Given the description of an element on the screen output the (x, y) to click on. 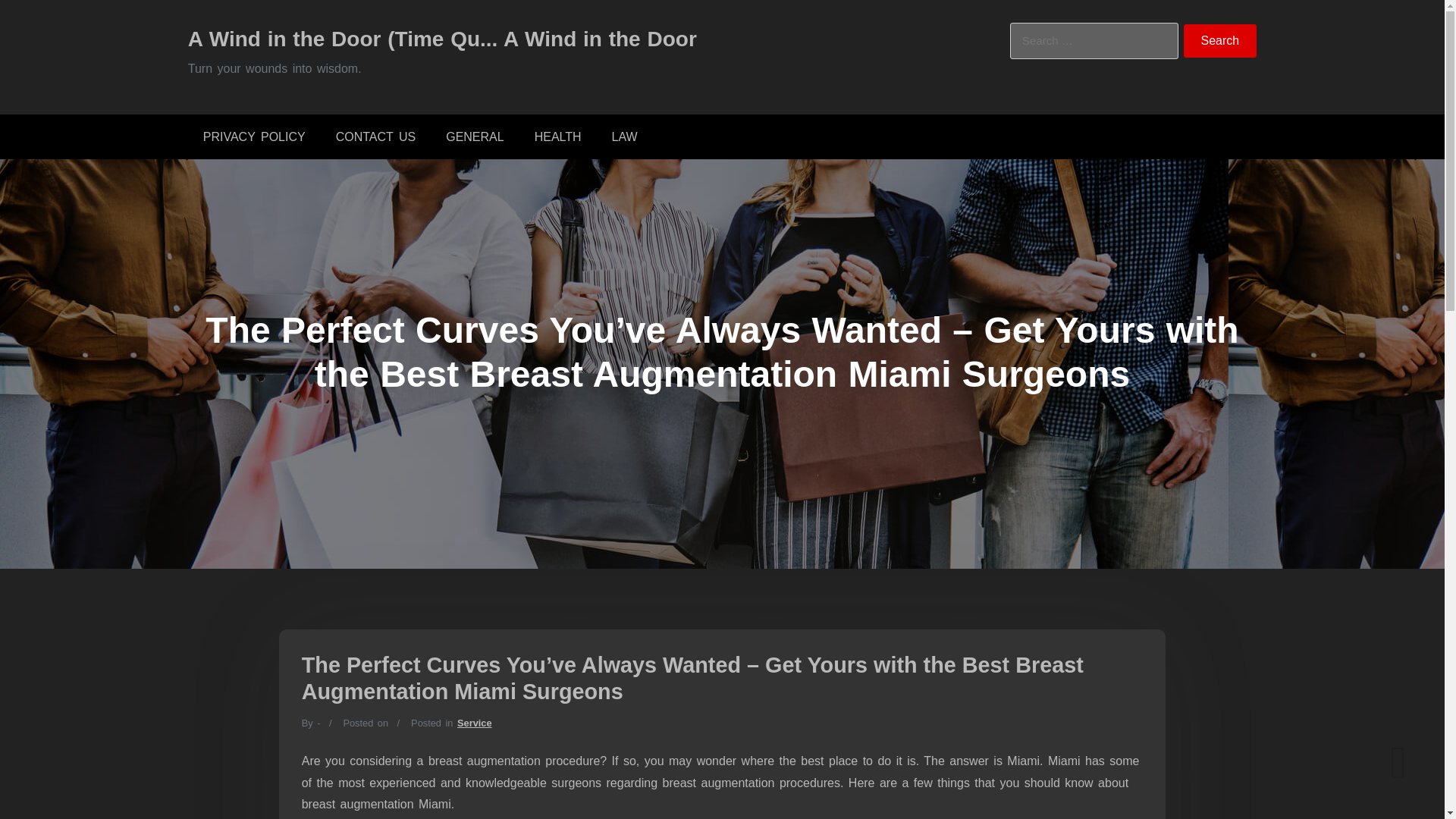
Service (474, 722)
HEALTH (557, 136)
Search (1220, 40)
PRIVACY POLICY (253, 136)
GENERAL (474, 136)
CONTACT US (375, 136)
LAW (624, 136)
Search (1220, 40)
Search (1220, 40)
